Given the description of an element on the screen output the (x, y) to click on. 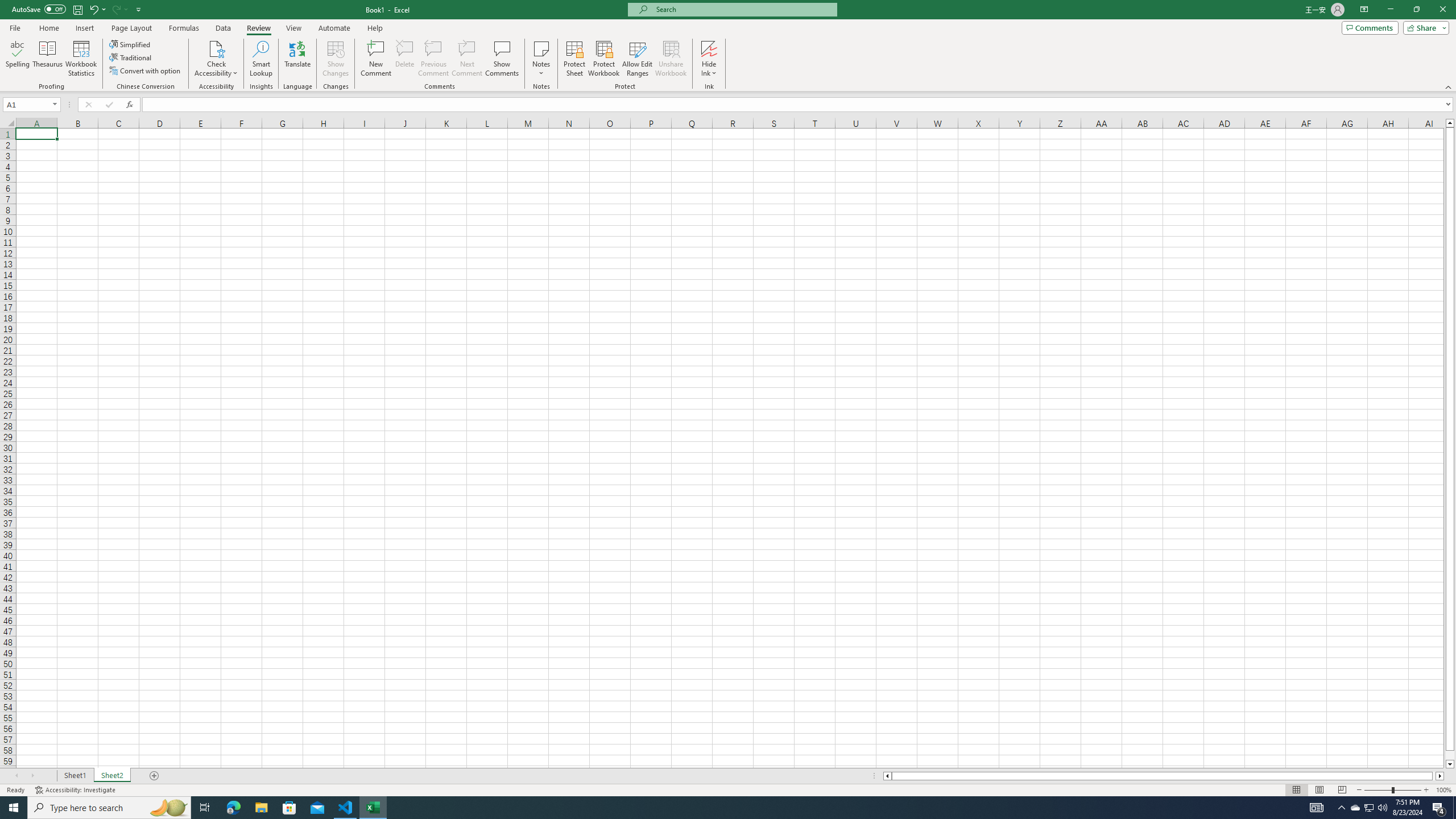
Accessibility Checker Accessibility: Investigate (76, 790)
Next Comment (466, 58)
Translate (297, 58)
Previous Comment (432, 58)
Allow Edit Ranges (637, 58)
